Given the description of an element on the screen output the (x, y) to click on. 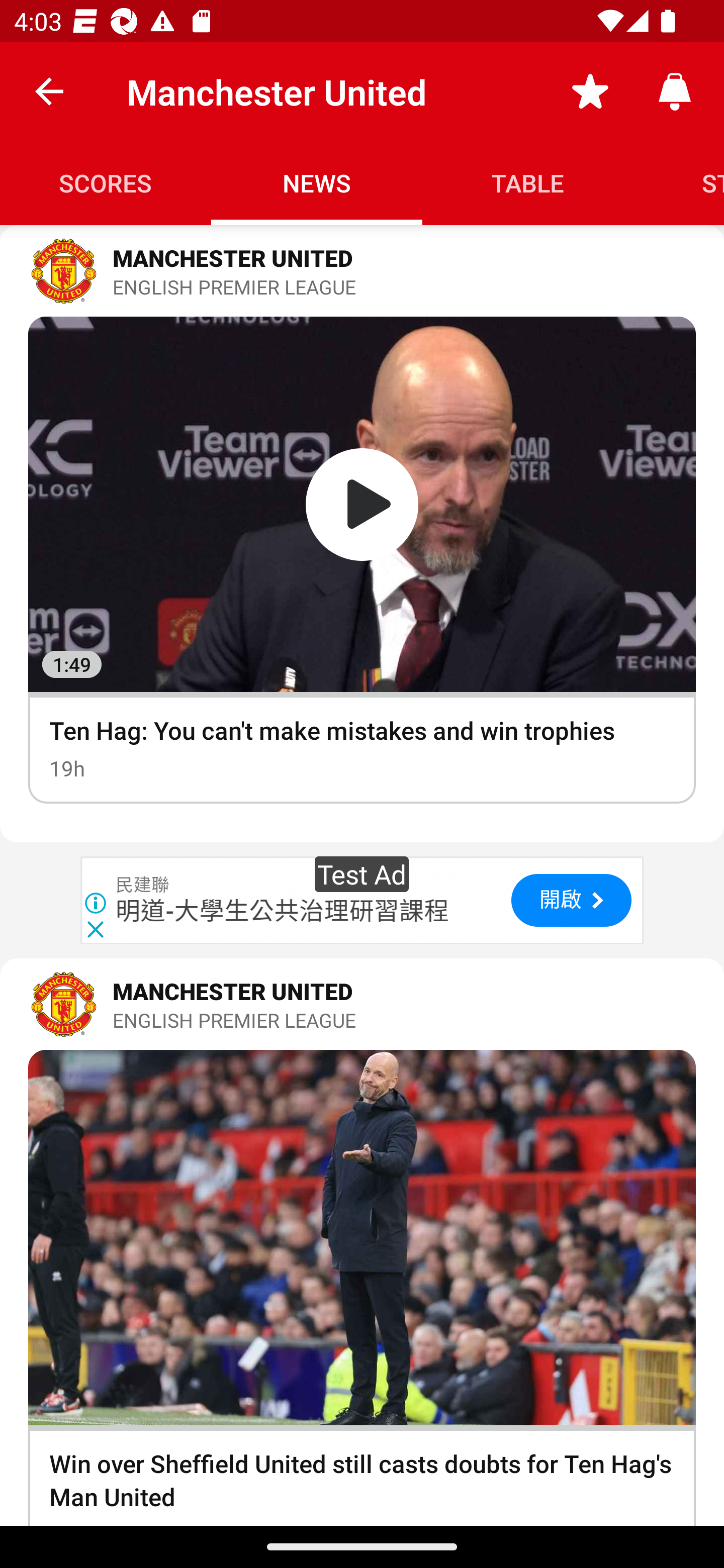
back.button (49, 90)
Favorite toggle (590, 90)
Alerts (674, 90)
Scores SCORES (105, 183)
Table TABLE (527, 183)
MANCHESTER UNITED ENGLISH PREMIER LEAGUE (362, 270)
民建聯 (142, 884)
開啟 (570, 899)
明道-大學生公共治理研習課程 (282, 910)
MANCHESTER UNITED ENGLISH PREMIER LEAGUE (362, 1004)
